Given the description of an element on the screen output the (x, y) to click on. 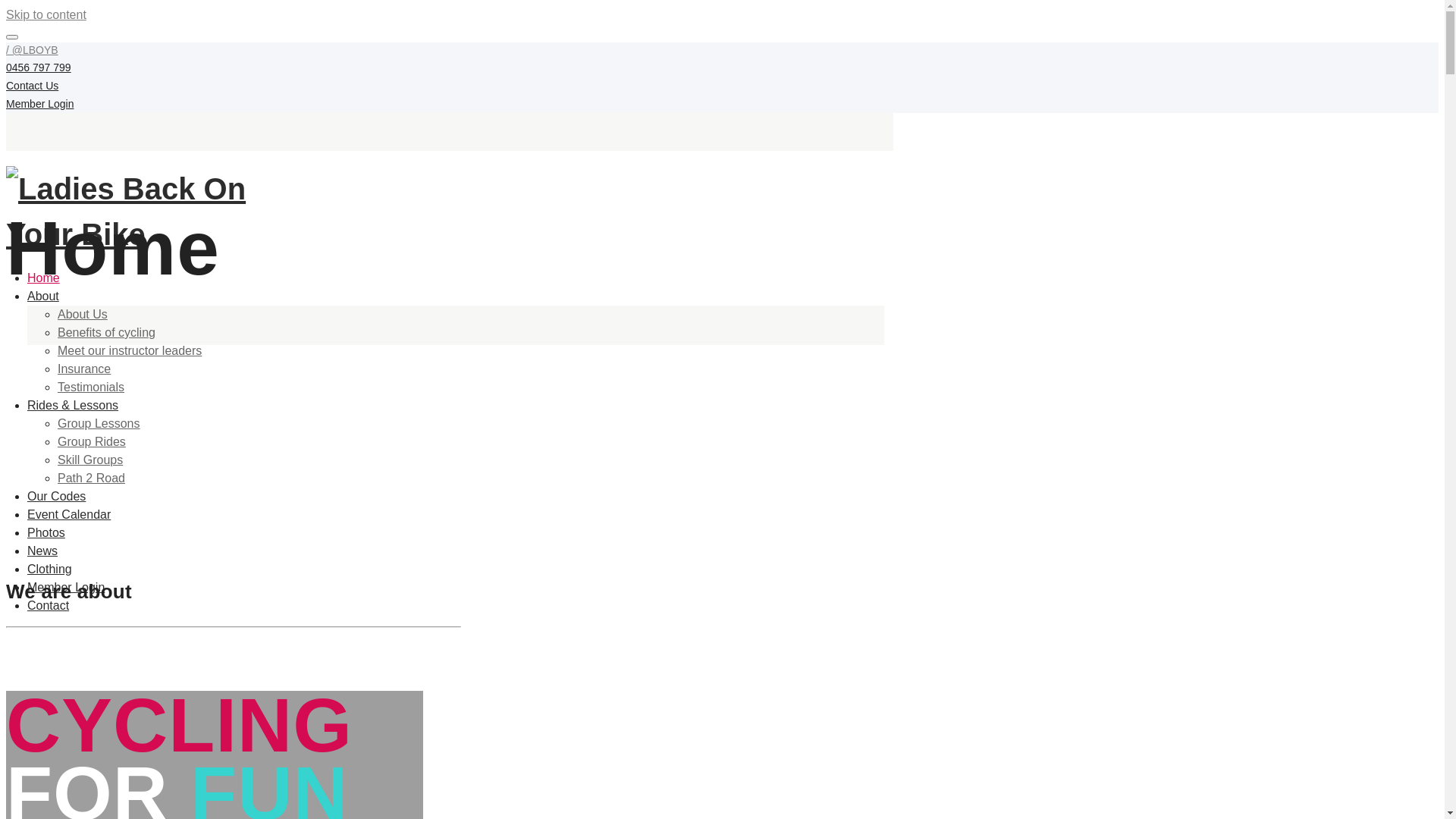
Skip to content Element type: text (46, 14)
Our Codes Element type: text (56, 495)
News Element type: text (42, 550)
About Element type: text (43, 295)
Meet our instructor leaders Element type: text (129, 350)
/ @LBOYB Element type: text (32, 49)
Path 2 Road Element type: text (91, 477)
Contact Element type: text (48, 605)
Insurance Element type: text (83, 368)
Skill Groups Element type: text (89, 459)
Group Lessons Element type: text (98, 423)
Testimonials Element type: text (90, 386)
Rides & Lessons Element type: text (72, 404)
Member Login Element type: text (65, 586)
Contact Us Element type: text (32, 85)
Member Login Element type: text (40, 103)
Photos Element type: text (46, 532)
Benefits of cycling Element type: text (106, 332)
Group Rides Element type: text (91, 441)
0456 797 799 Element type: text (38, 67)
Clothing Element type: text (49, 568)
About Us Element type: text (82, 313)
Home Element type: text (43, 277)
Event Calendar Element type: text (68, 514)
